Given the description of an element on the screen output the (x, y) to click on. 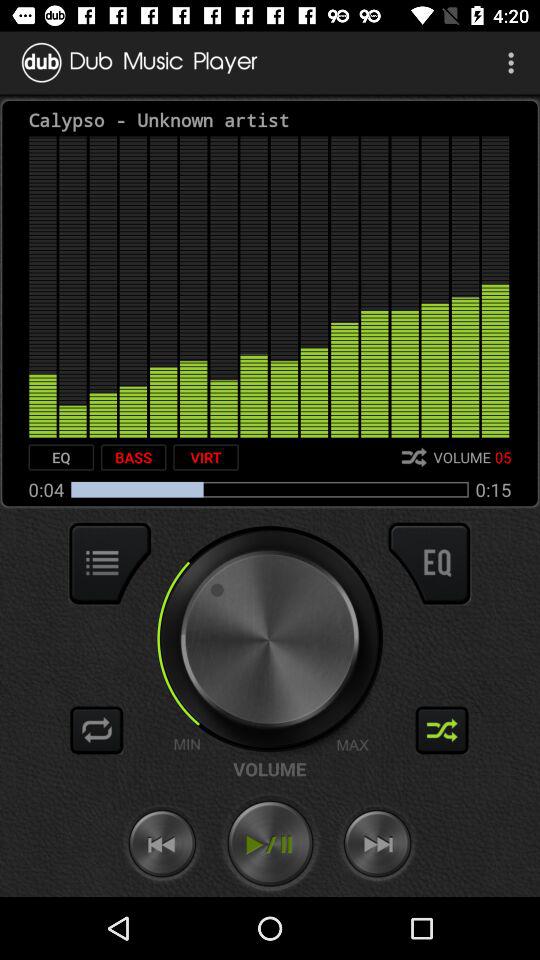
shuffle (442, 730)
